Given the description of an element on the screen output the (x, y) to click on. 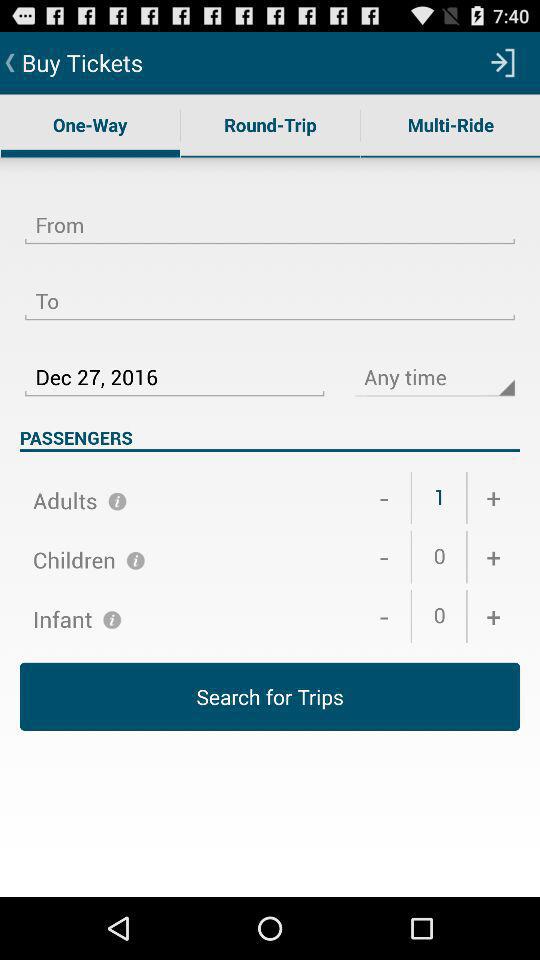
scroll until the + (493, 616)
